Given the description of an element on the screen output the (x, y) to click on. 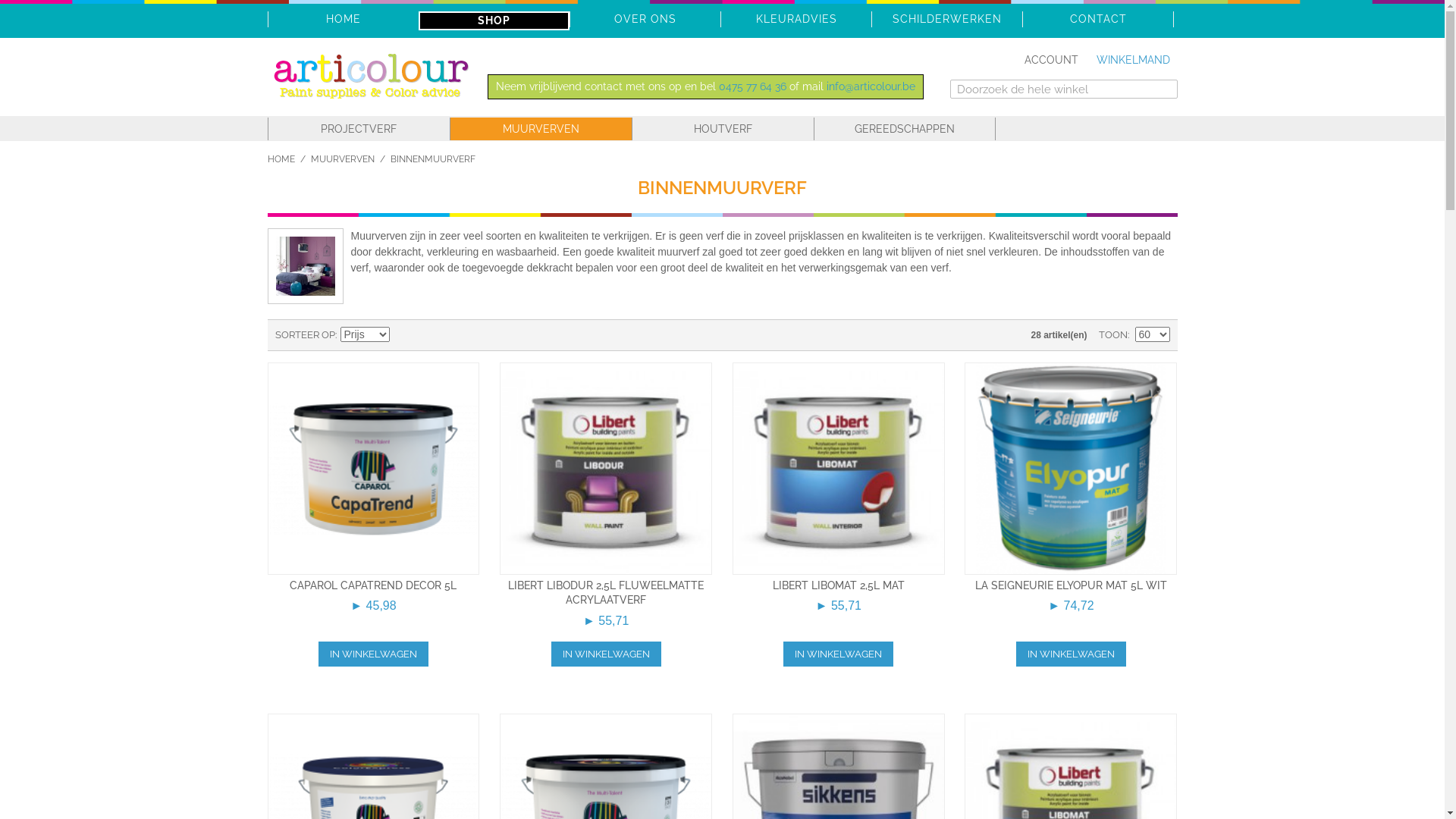
Libert Libomat 2,5l mat Element type: hover (838, 468)
LIBERT LIBODUR 2,5L FLUWEELMATTE ACRYLAATVERF Element type: text (605, 592)
CONTACT Element type: text (1098, 18)
0475 77 64 36 Element type: text (752, 86)
SCHILDERWERKEN Element type: text (946, 18)
Libert Libodur 2,5l fluweelmatte acrylaatverf  Element type: hover (605, 468)
La Seigneurie Elyopur mat 5l wit Element type: hover (1070, 468)
Zoeken Element type: hover (1161, 94)
SHOP Element type: text (493, 20)
IN WINKELWAGEN Element type: text (606, 653)
ACCOUNT Element type: text (1050, 60)
CAPAROL CAPATREND DECOR 5L Element type: text (372, 585)
MUURVERVEN Element type: text (342, 159)
HOME Element type: text (280, 159)
HOME Element type: text (343, 18)
Binnenmuurverf Element type: hover (305, 265)
info@articolour.be Element type: text (870, 86)
IN WINKELWAGEN Element type: text (1071, 653)
IN WINKELWAGEN Element type: text (838, 653)
GEREEDSCHAPPEN Element type: text (904, 128)
KLEURADVIES Element type: text (796, 18)
Caparol Capatrend decor 5l Element type: hover (372, 468)
MUURVERVEN Element type: text (540, 128)
PROJECTVERF Element type: text (358, 128)
OVER ONS Element type: text (645, 18)
WINKELMAND Element type: text (1132, 60)
HOUTVERF Element type: text (722, 128)
Van hoog naar laag sorteren Element type: text (402, 334)
IN WINKELWAGEN Element type: text (373, 653)
LA SEIGNEURIE ELYOPUR MAT 5L WIT Element type: text (1071, 585)
LIBERT LIBOMAT 2,5L MAT Element type: text (838, 585)
